Given the description of an element on the screen output the (x, y) to click on. 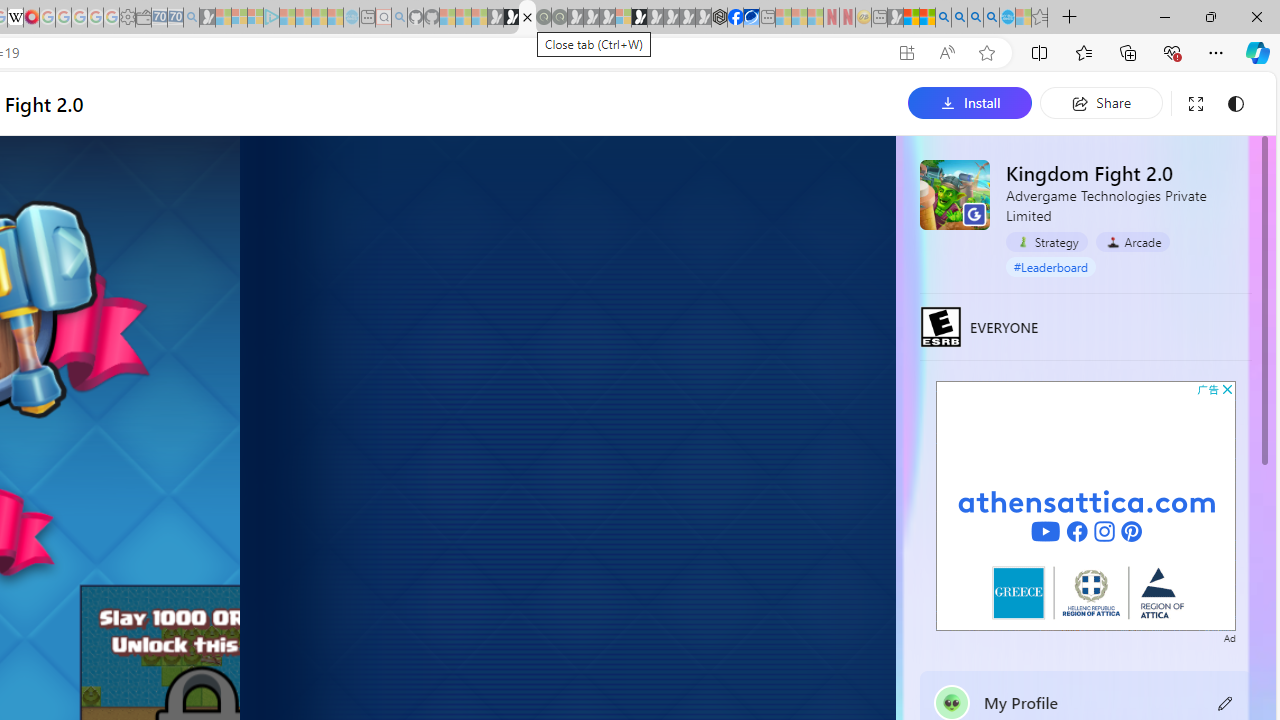
AirNow.gov (751, 17)
Share (1101, 102)
Favorites - Sleeping (1039, 17)
Wallet - Sleeping (143, 17)
Bing AI - Search (943, 17)
Settings - Sleeping (127, 17)
